Given the description of an element on the screen output the (x, y) to click on. 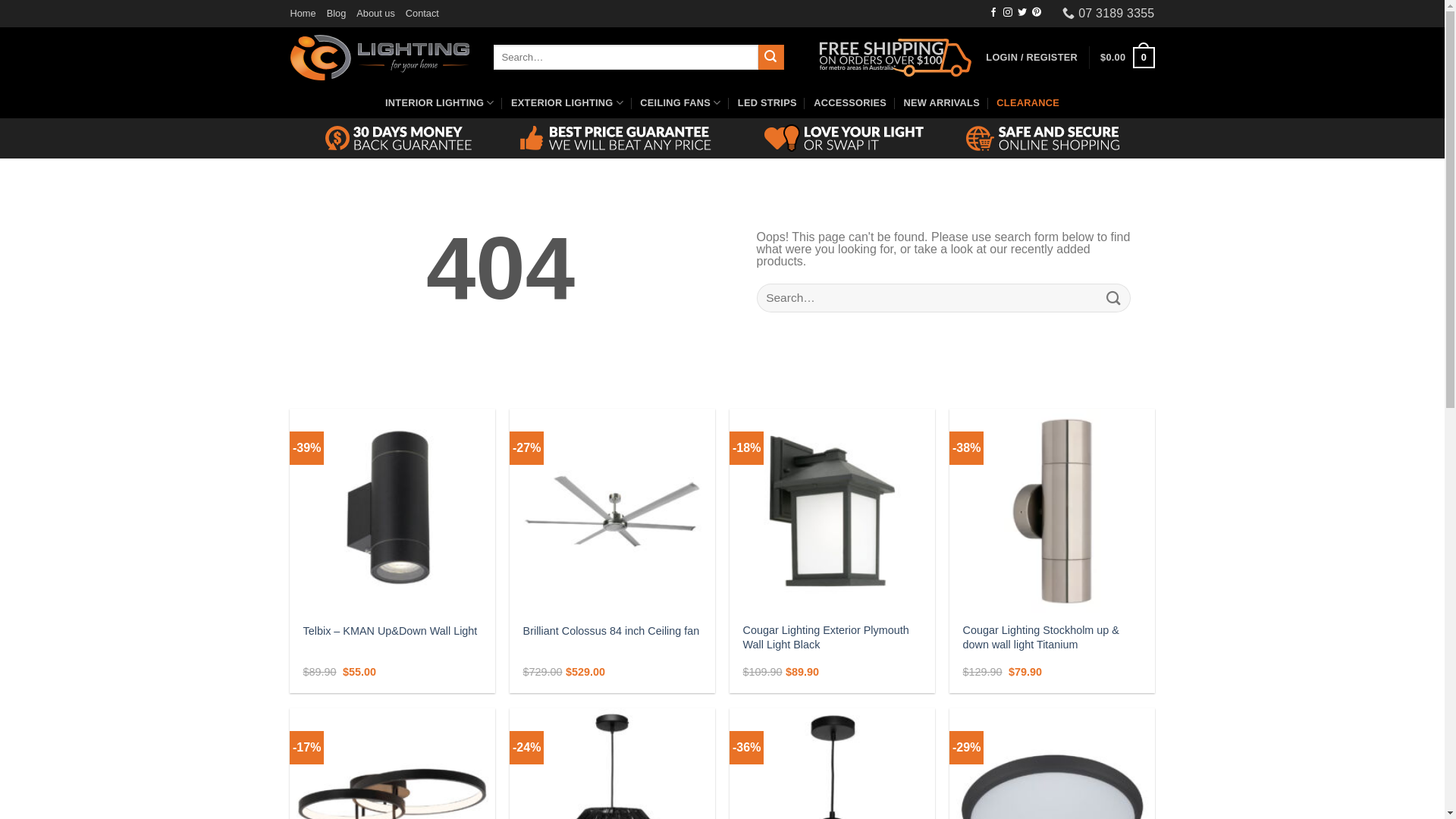
NEW ARRIVALS Element type: text (941, 102)
LED STRIPS Element type: text (767, 102)
About us Element type: text (375, 13)
Follow on Pinterest Element type: hover (1036, 12)
INTERIOR LIGHTING Element type: text (439, 102)
07 3189 3355 Element type: text (1108, 13)
Brilliant Colossus 84 inch Ceiling fan Element type: text (611, 631)
EXTERIOR LIGHTING Element type: text (567, 102)
IC Lighting Shop Brisbane Element type: hover (379, 57)
CLEARANCE Element type: text (1027, 102)
Follow on Twitter Element type: hover (1021, 12)
Skip to content Element type: text (0, 0)
Contact Element type: text (422, 13)
Follow on Instagram Element type: hover (1007, 12)
$0.00
0 Element type: text (1127, 57)
Search Element type: text (1113, 297)
CEILING FANS Element type: text (680, 102)
Cougar Lighting Exterior Plymouth Wall Light Black Element type: text (832, 637)
Home Element type: text (302, 13)
Follow on Facebook Element type: hover (992, 12)
Blog Element type: text (336, 13)
Cougar Lighting Stockholm up & down wall light Titanium Element type: text (1052, 637)
LOGIN / REGISTER Element type: text (1031, 57)
ACCESSORIES Element type: text (849, 102)
Search Element type: text (771, 57)
